Given the description of an element on the screen output the (x, y) to click on. 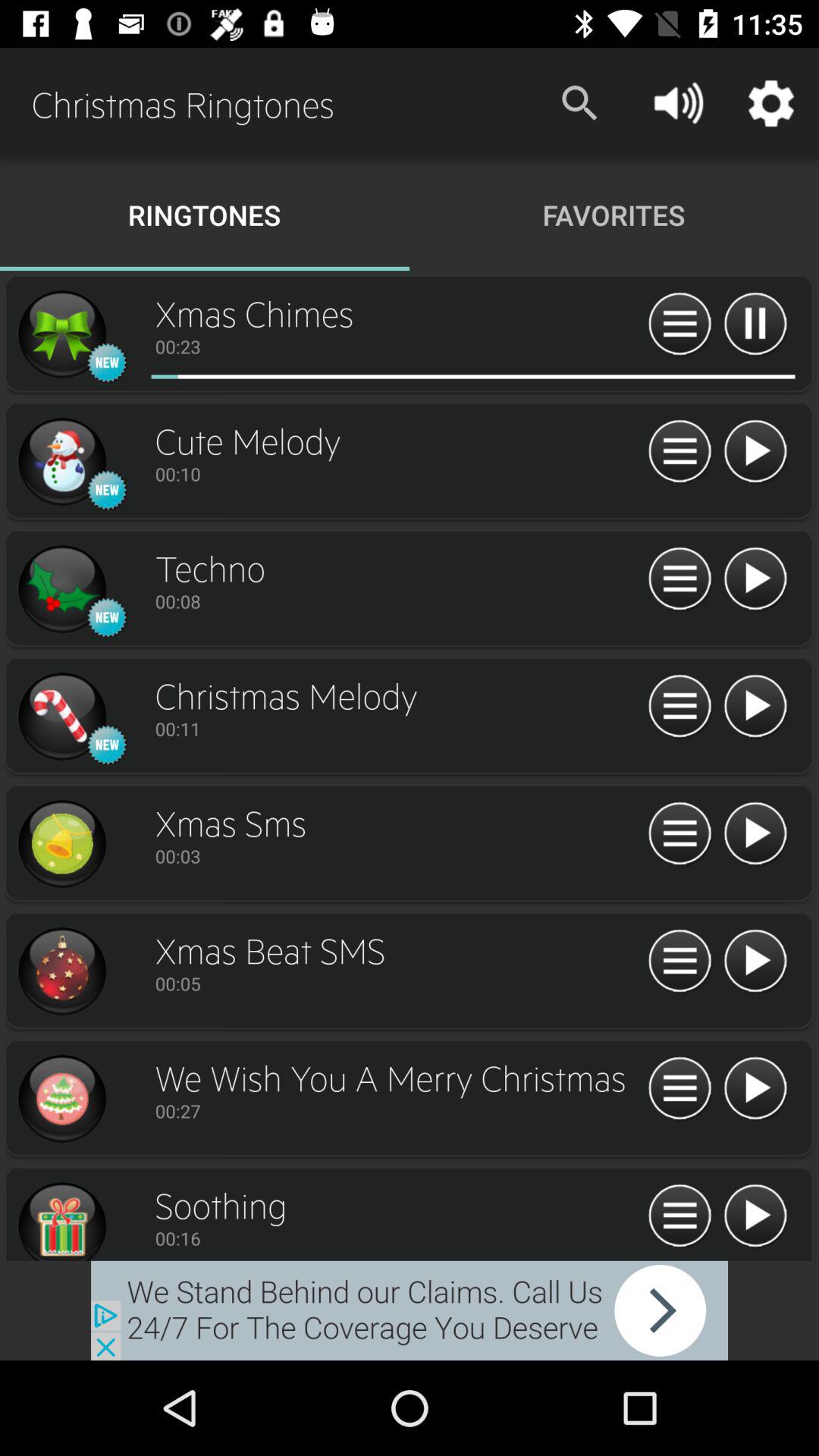
more (679, 1088)
